Given the description of an element on the screen output the (x, y) to click on. 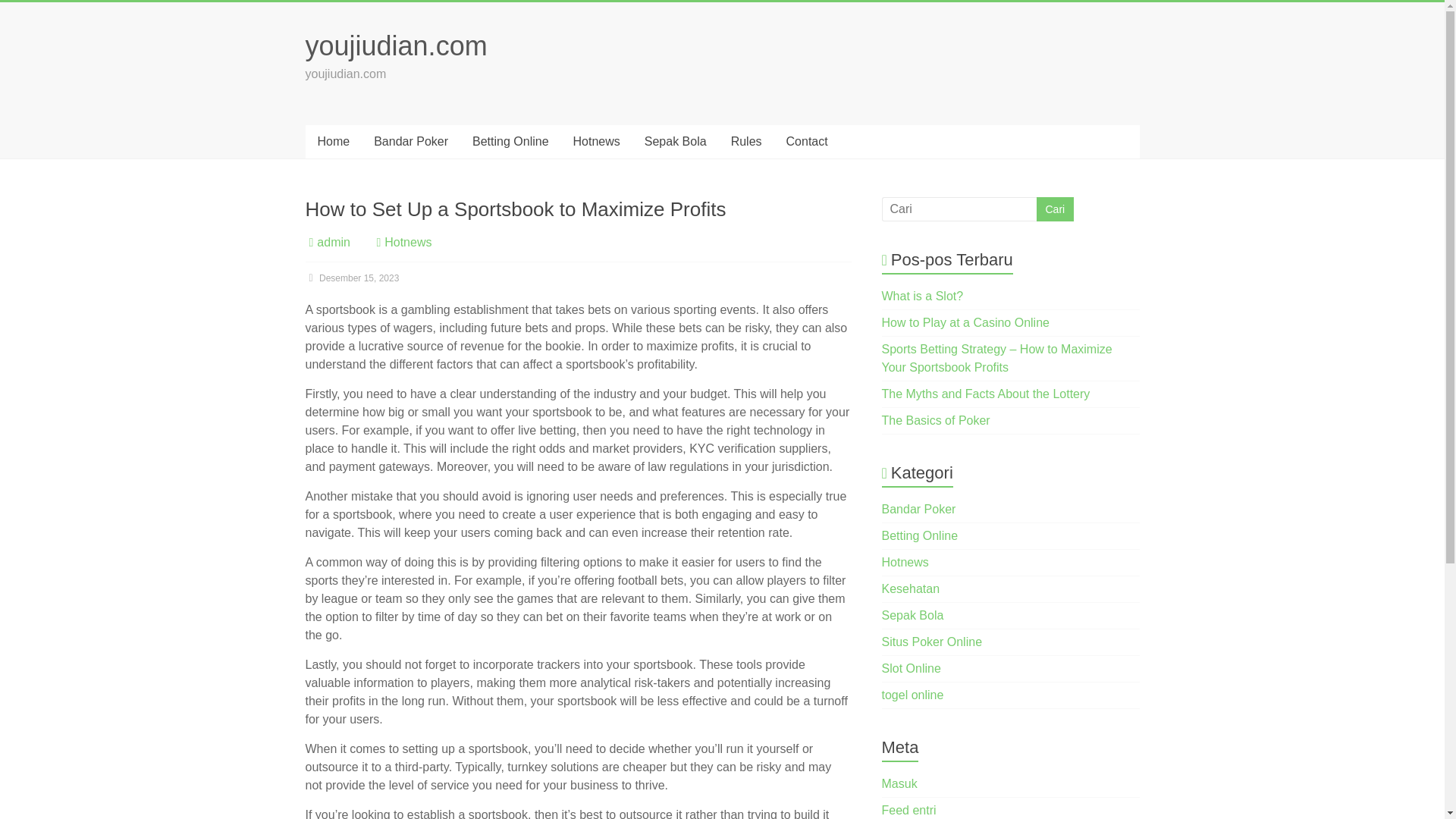
Contact (807, 141)
Situs Poker Online (932, 641)
Cari (1054, 209)
How to Play at a Casino Online (965, 322)
Bandar Poker (919, 508)
youjiudian.com (395, 45)
youjiudian.com (395, 45)
Hotnews (407, 241)
Hotnews (595, 141)
6:18 am (351, 277)
Slot Online (911, 667)
Hotnews (905, 562)
Betting Online (920, 535)
Feed entri (909, 809)
